Given the description of an element on the screen output the (x, y) to click on. 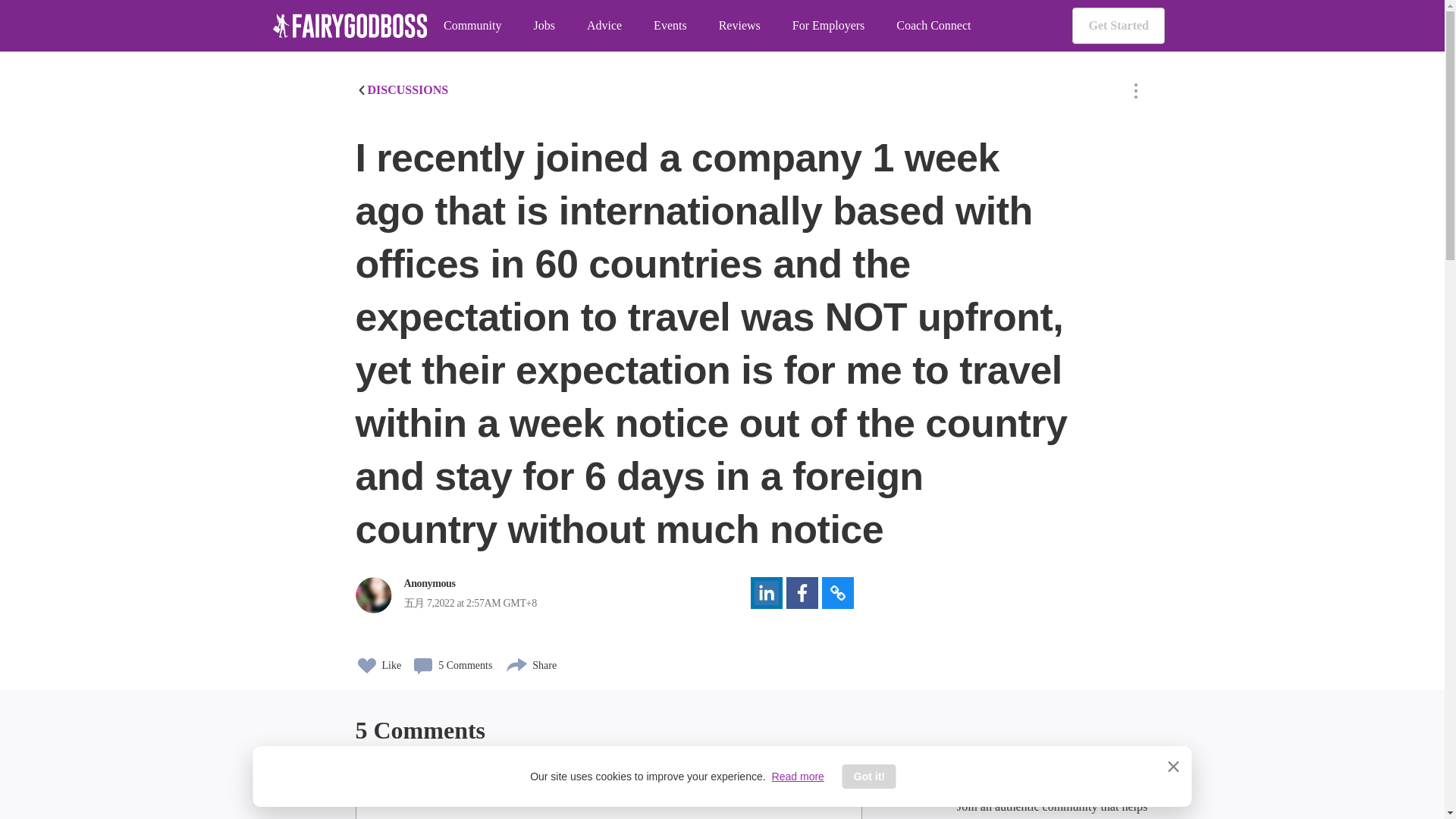
Like (378, 660)
Community (472, 25)
DISCUSSIONS (401, 89)
Jobs (543, 25)
Advice (603, 25)
Events (670, 25)
Advice (603, 25)
Reviews (739, 25)
Community (472, 25)
Jobs (543, 25)
